Given the description of an element on the screen output the (x, y) to click on. 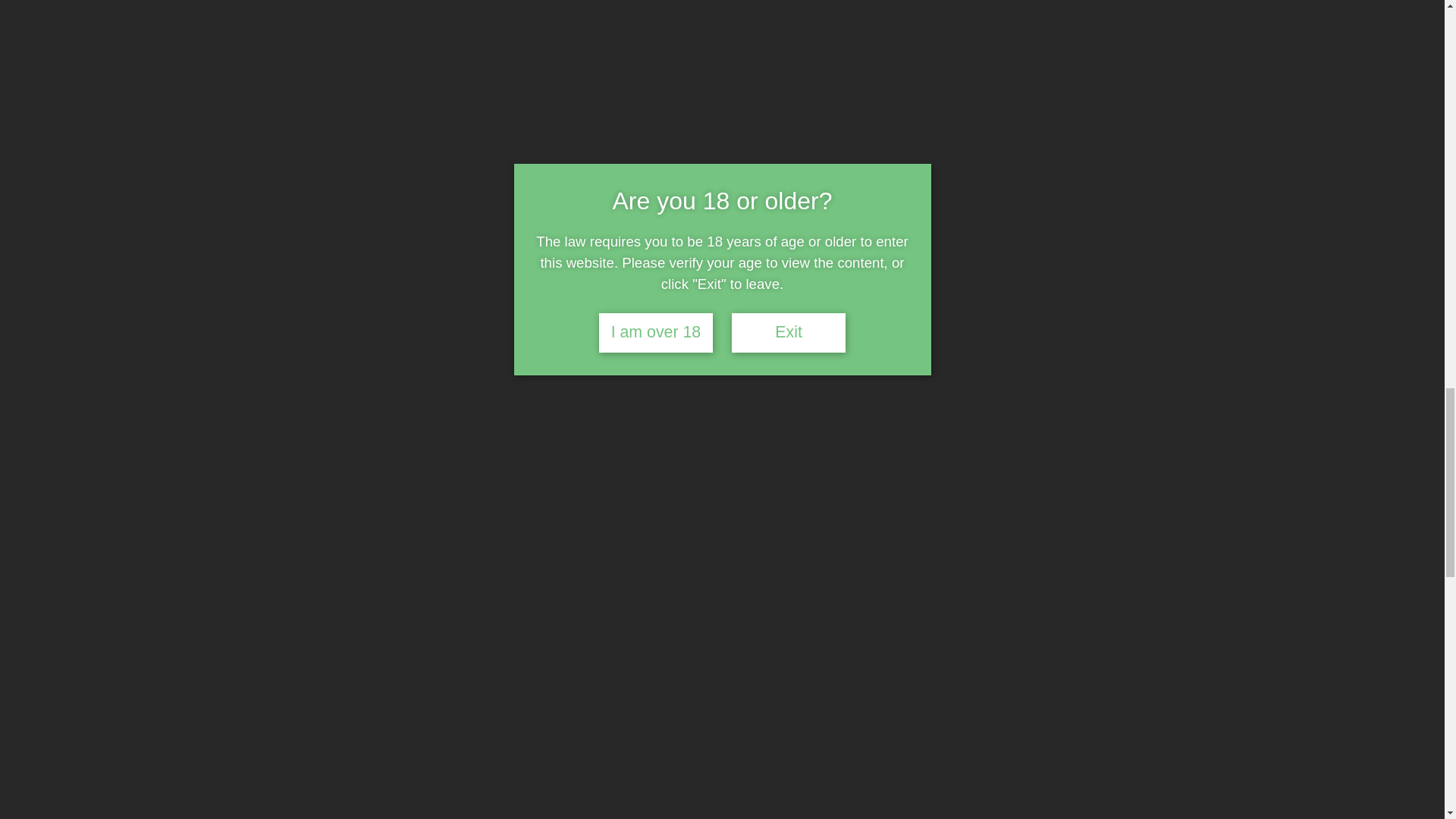
Whatsapp (292, 598)
Facebook (234, 598)
Catch A Fire Burnin' Hot After 50 Years (783, 696)
Linkedin (203, 598)
Email (322, 598)
Jamaican Government Moves to Push Bamboo Industry (387, 696)
More (352, 598)
Twitter (263, 598)
